Given the description of an element on the screen output the (x, y) to click on. 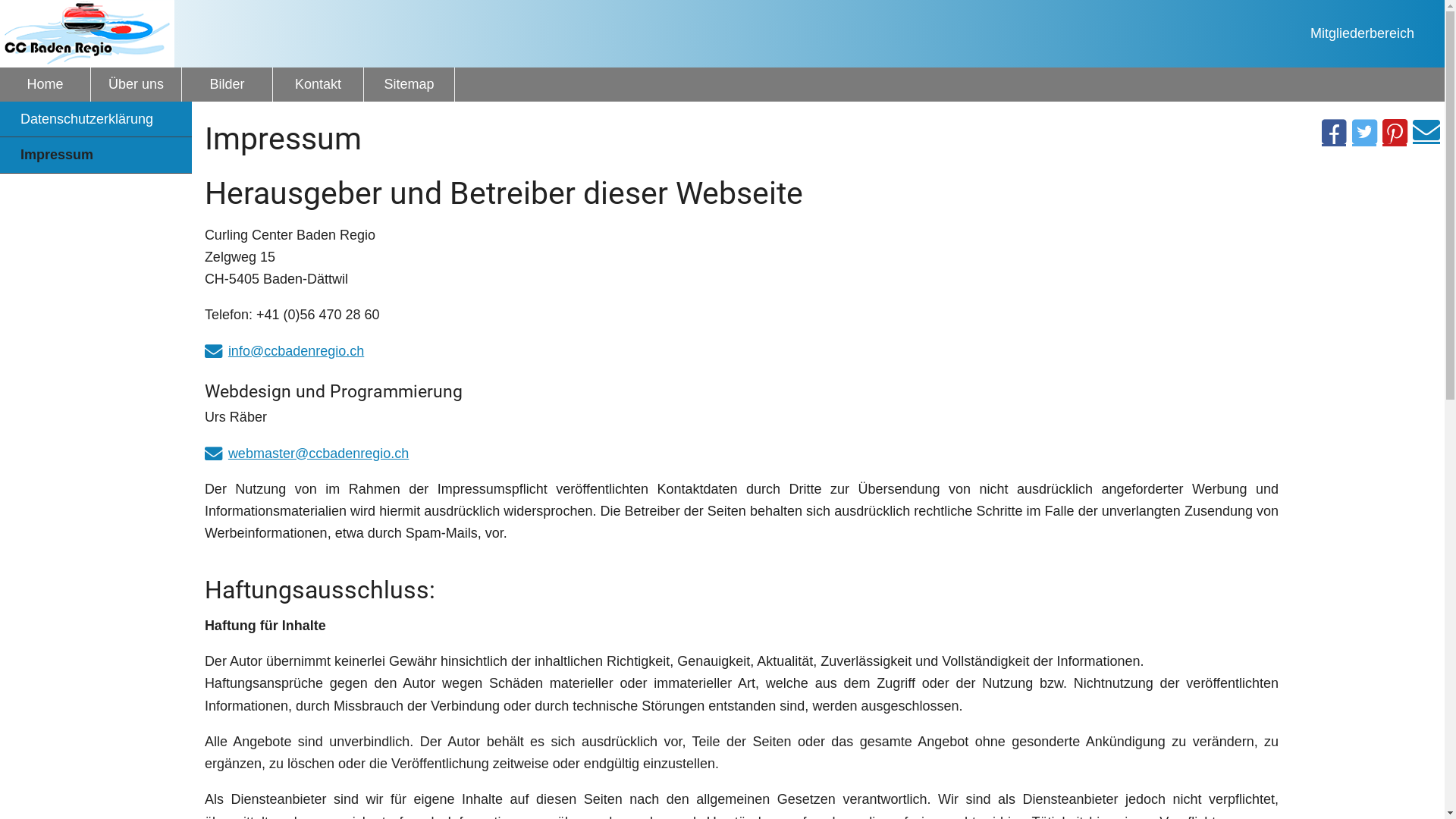
auf Pinterest teilen Element type: hover (1394, 132)
webmaster@ccbadenregio.ch Element type: text (306, 453)
Sitemap Element type: text (409, 84)
Mitgliederbereich Element type: text (1362, 32)
auf Facebook teilen Element type: hover (1333, 132)
Kontakt Element type: text (318, 84)
Bilder Element type: text (227, 84)
Home Element type: text (45, 84)
auf Twitter teilen Element type: hover (1364, 132)
info@ccbadenregio.ch Element type: text (284, 350)
